Given the description of an element on the screen output the (x, y) to click on. 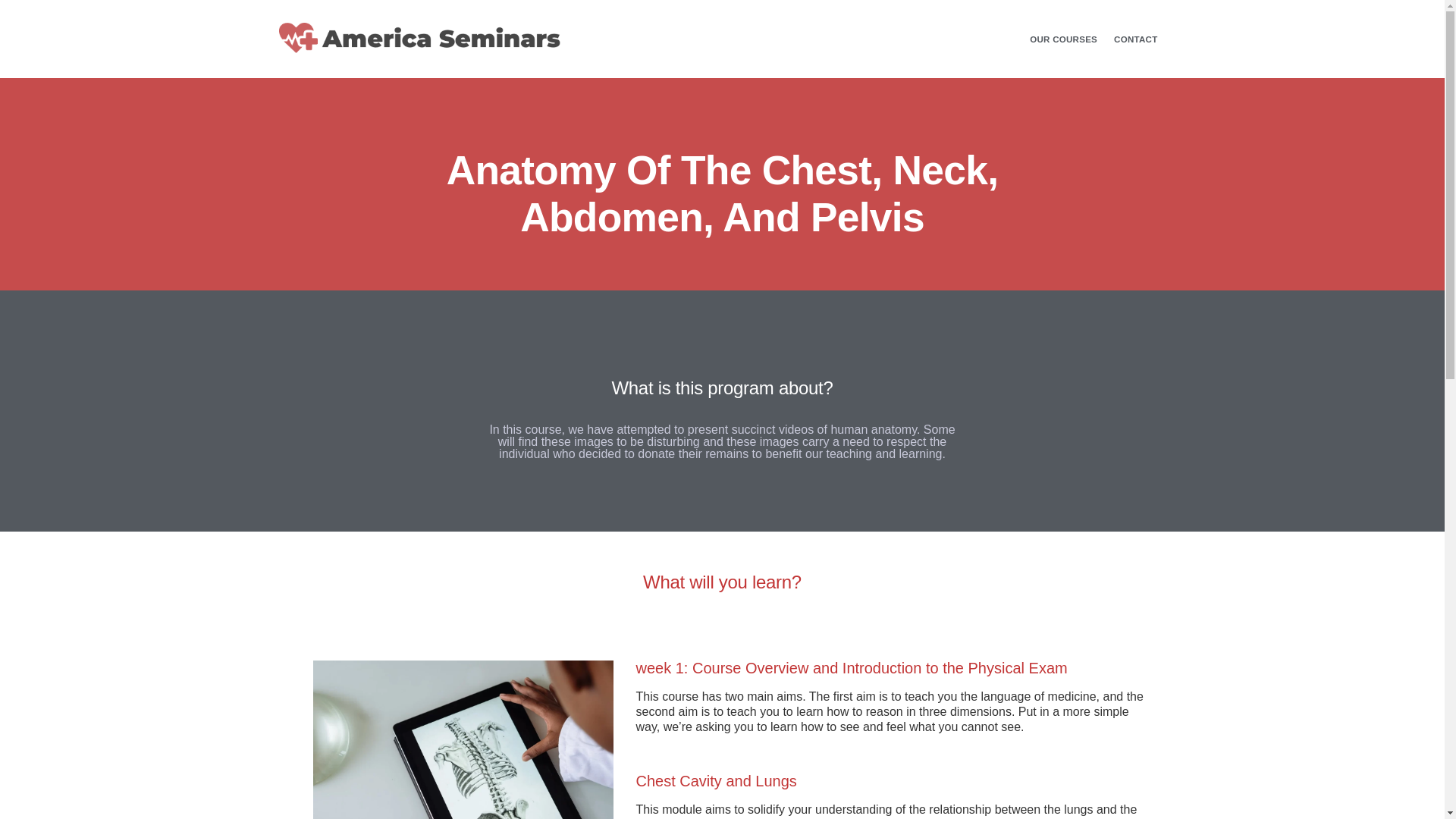
OUR COURSES (1063, 39)
course12 (462, 739)
CONTACT (1135, 39)
